Given the description of an element on the screen output the (x, y) to click on. 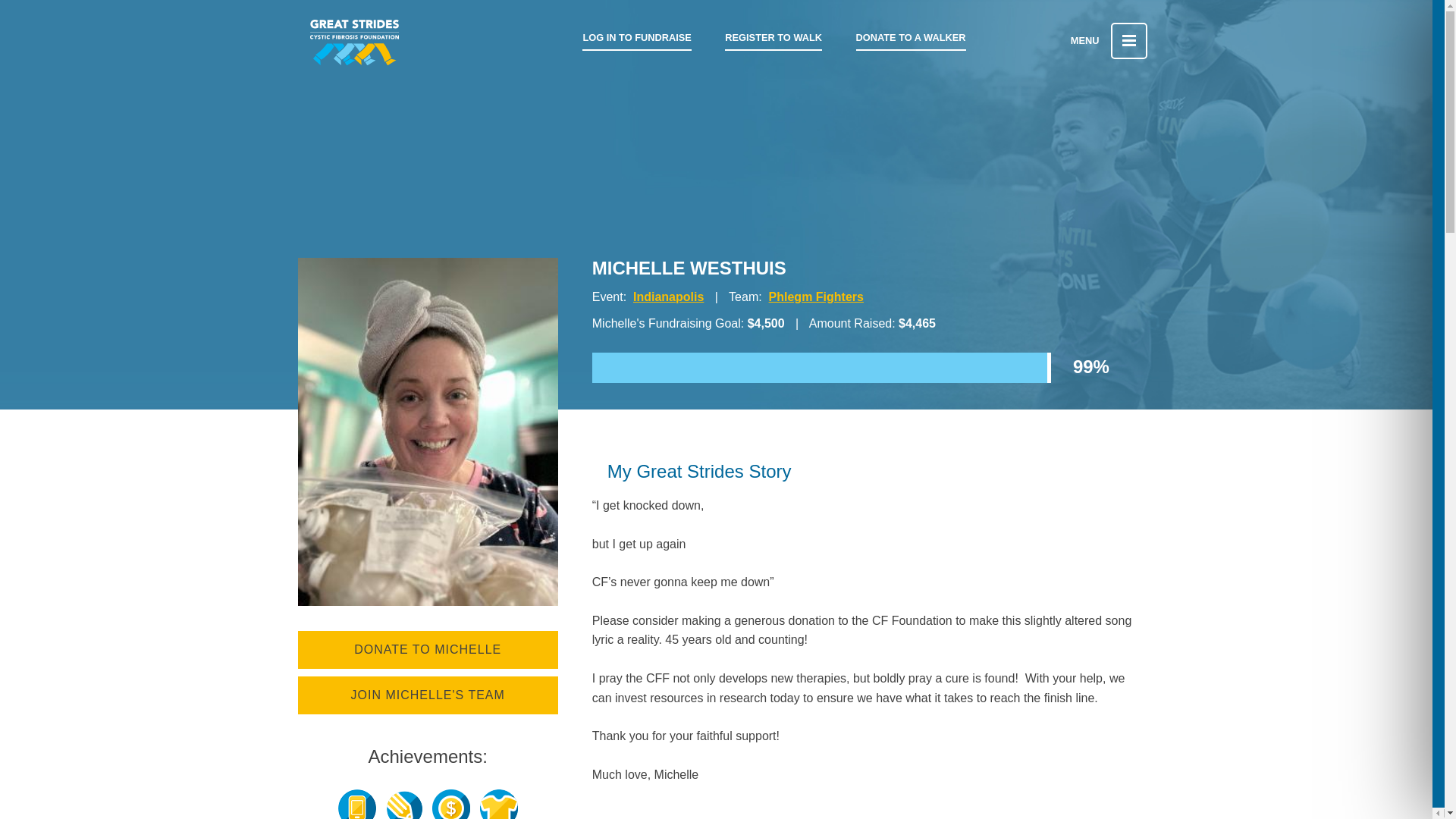
DONATE TO A WALKER (911, 37)
LOG IN TO FUNDRAISE (636, 37)
Phlegm Fighters (815, 296)
REGISTER TO WALK (773, 37)
DONATE TO MICHELLE (427, 649)
Indianapolis (668, 296)
JOIN MICHELLE'S TEAM (427, 695)
